Given the description of an element on the screen output the (x, y) to click on. 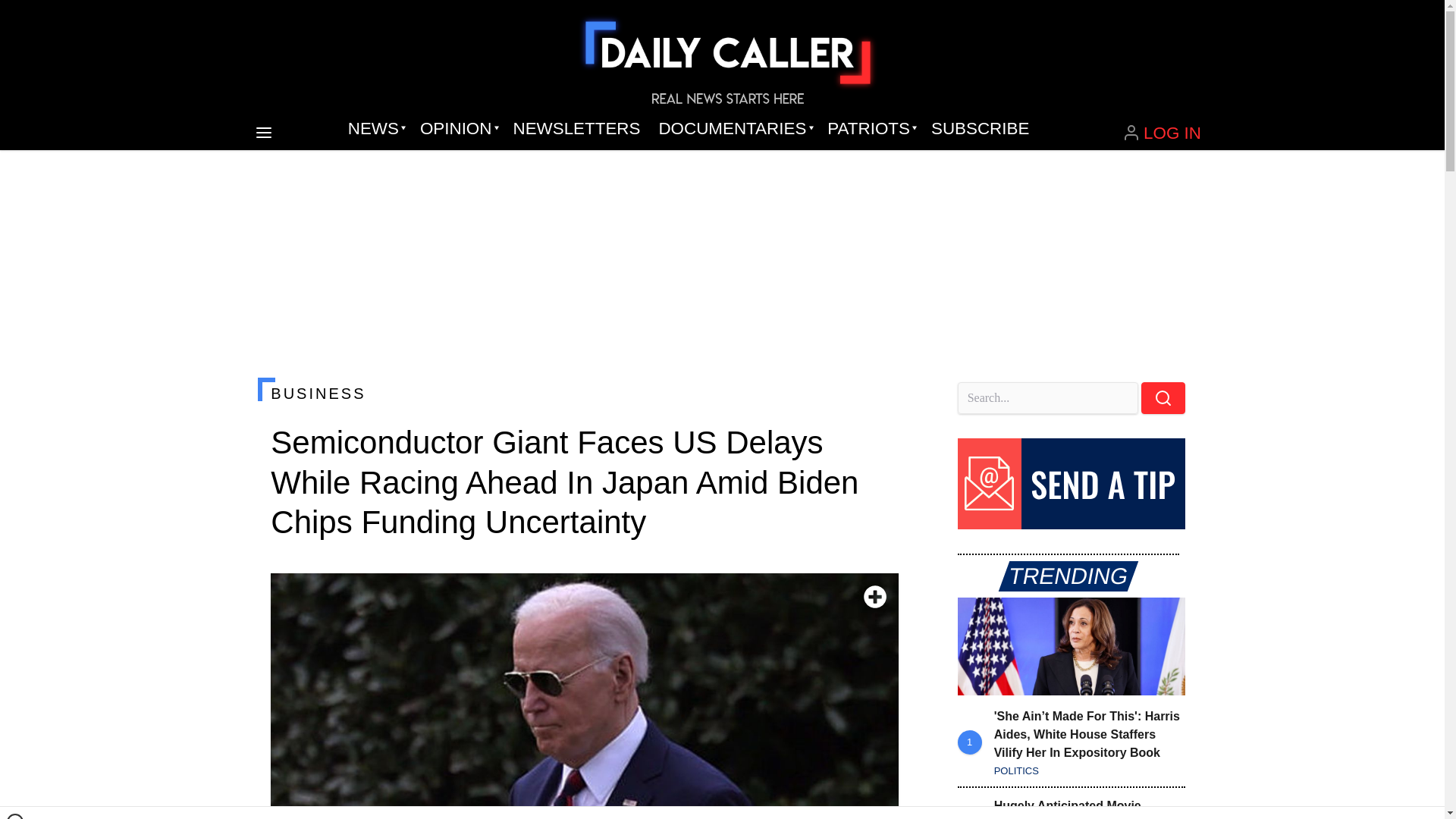
Close window (14, 816)
DOCUMENTARIES (733, 128)
PATRIOTS (869, 128)
OPINION (456, 128)
BUSINESS (584, 393)
NEWS (374, 128)
NEWSLETTERS (576, 128)
Toggle fullscreen (874, 596)
SUBSCRIBE (979, 128)
